Given the description of an element on the screen output the (x, y) to click on. 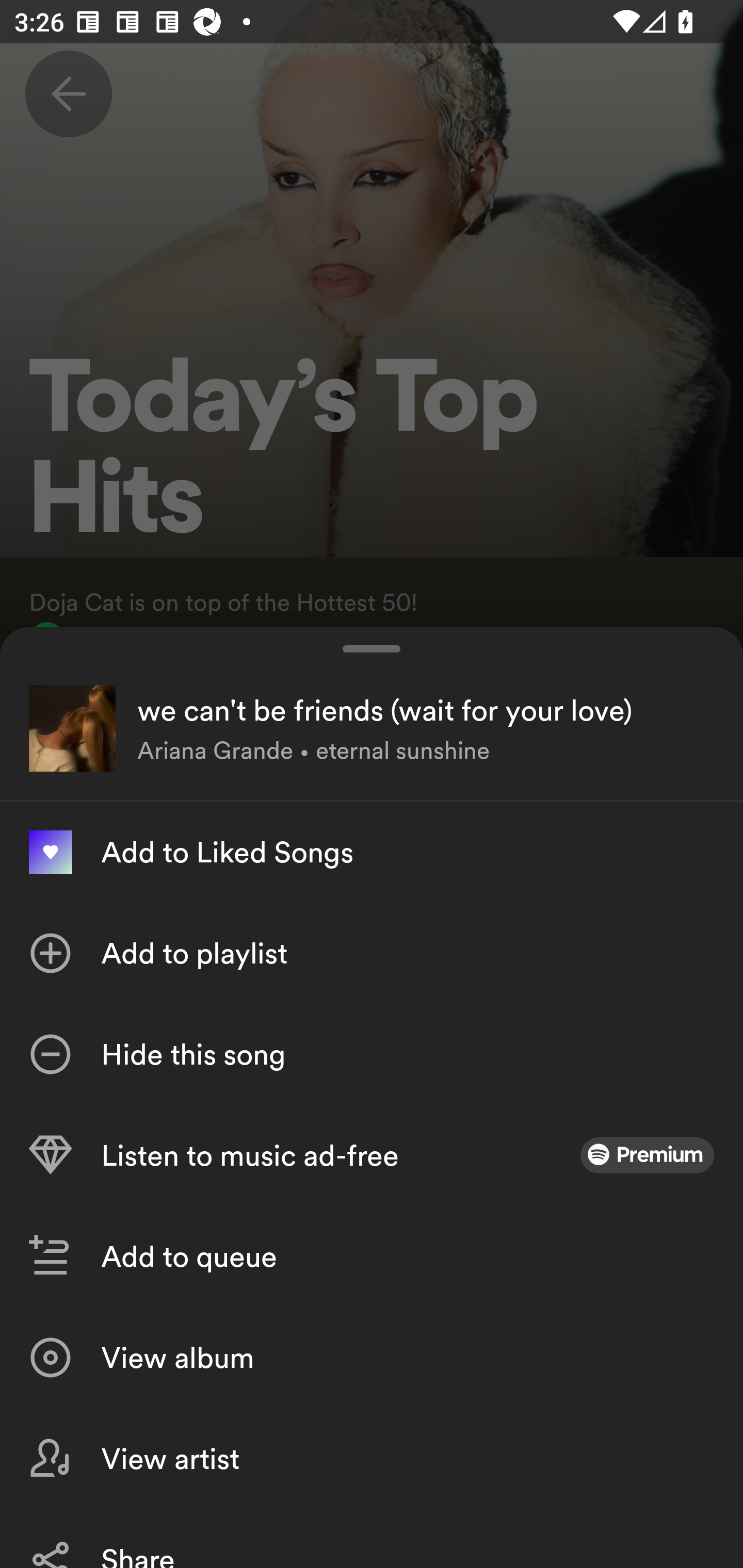
Add to Liked Songs (371, 852)
Add to playlist (371, 953)
Hide this song (371, 1054)
Listen to music ad-free (371, 1155)
Add to queue (371, 1256)
View album (371, 1357)
View artist (371, 1458)
Share (371, 1538)
